Given the description of an element on the screen output the (x, y) to click on. 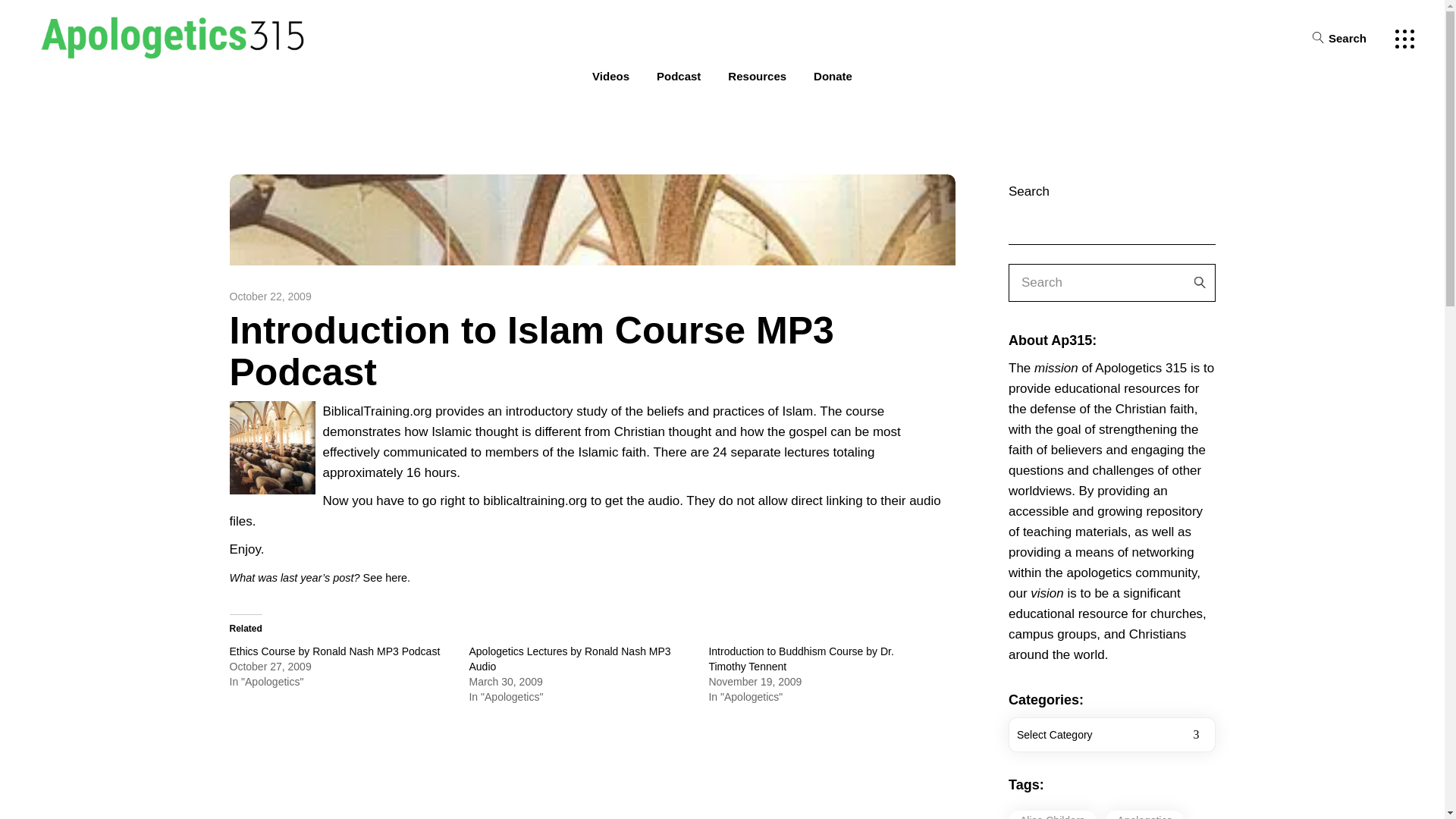
Next project (909, 816)
Alisa Childers (1052, 814)
Select Category (1111, 734)
Prev project (274, 816)
October 22, 2009 (269, 296)
BiblicalTraining.org (377, 411)
See here (384, 577)
biblicaltraining.org (534, 500)
Introduction to Buddhism Course by Dr. Timothy Tennent (800, 658)
Apologetics Lectures by Ronald Nash MP3 Audio (568, 658)
Introduction to Buddhism Course by Dr. Timothy Tennent (800, 658)
Ethics Course by Ronald Nash MP3 Podcast (333, 651)
Ethics Course by Ronald Nash MP3 Podcast (333, 651)
Search (1340, 36)
Apologetics Lectures by Ronald Nash MP3 Audio (568, 658)
